Given the description of an element on the screen output the (x, y) to click on. 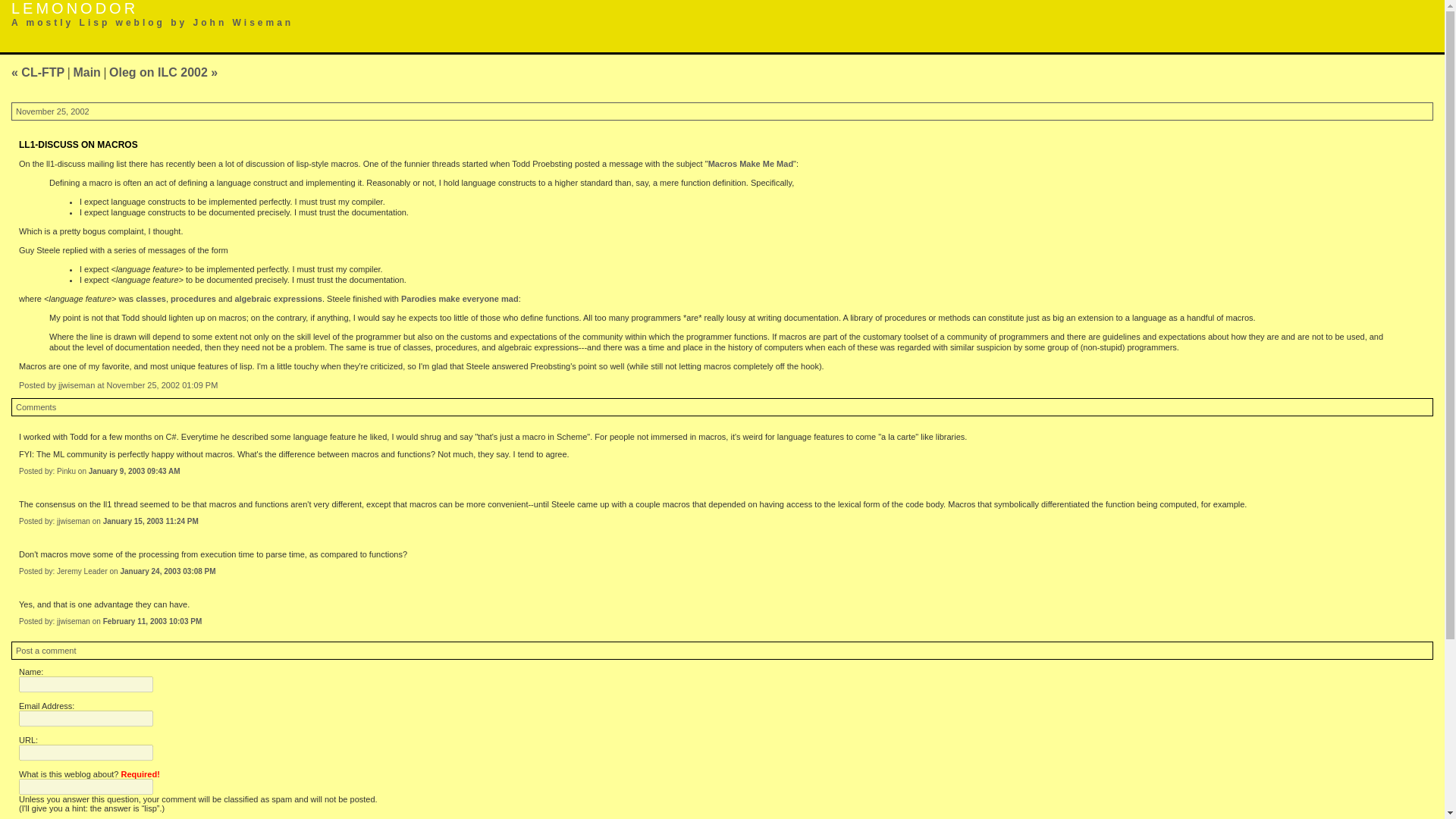
LEMONODOR (74, 8)
Parodies make everyone mad (459, 298)
Macros Make Me Mad (750, 163)
January 15, 2003 11:24 PM (150, 520)
January 24, 2003 03:08 PM (167, 571)
classes (150, 298)
Main (86, 72)
algebraic expressions (277, 298)
procedures (192, 298)
February 11, 2003 10:03 PM (152, 621)
January 9, 2003 09:43 AM (134, 470)
